Given the description of an element on the screen output the (x, y) to click on. 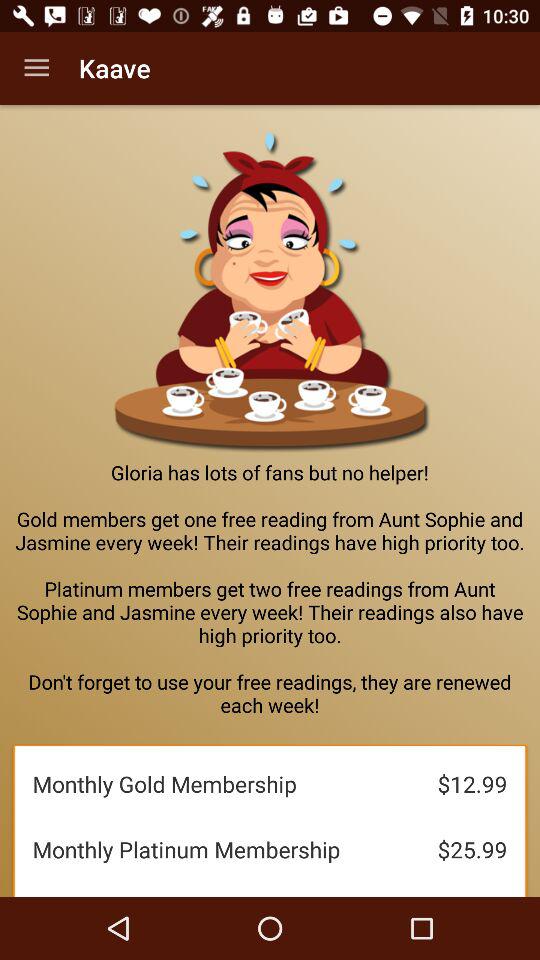
select the item above gloria has lots icon (36, 68)
